Given the description of an element on the screen output the (x, y) to click on. 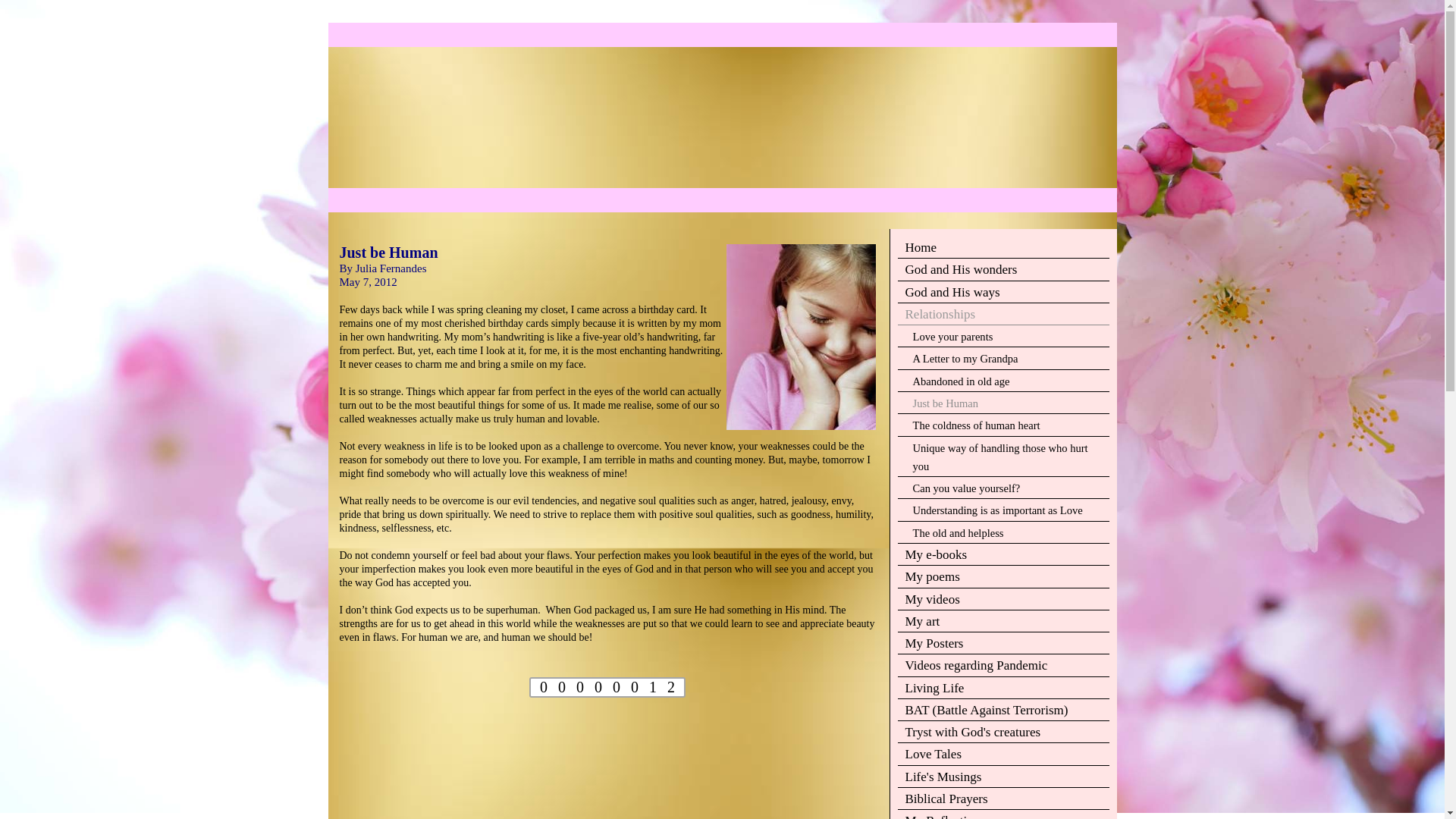
Biblical Prayers (1003, 799)
Life's Musings (1003, 777)
My poems (1003, 577)
My art (1003, 621)
The old and helpless (1003, 533)
My videos (1003, 599)
Collection of my videos. (1003, 599)
Living Life (1003, 688)
Tryst with God's creatures (1003, 732)
My e-books (1003, 555)
Love Tales (1003, 754)
The coldness of human heart (1003, 425)
Listed are my e-books that are available for download. (1003, 555)
Love your parents (1003, 336)
Understanding is as important as Love (1003, 510)
